Given the description of an element on the screen output the (x, y) to click on. 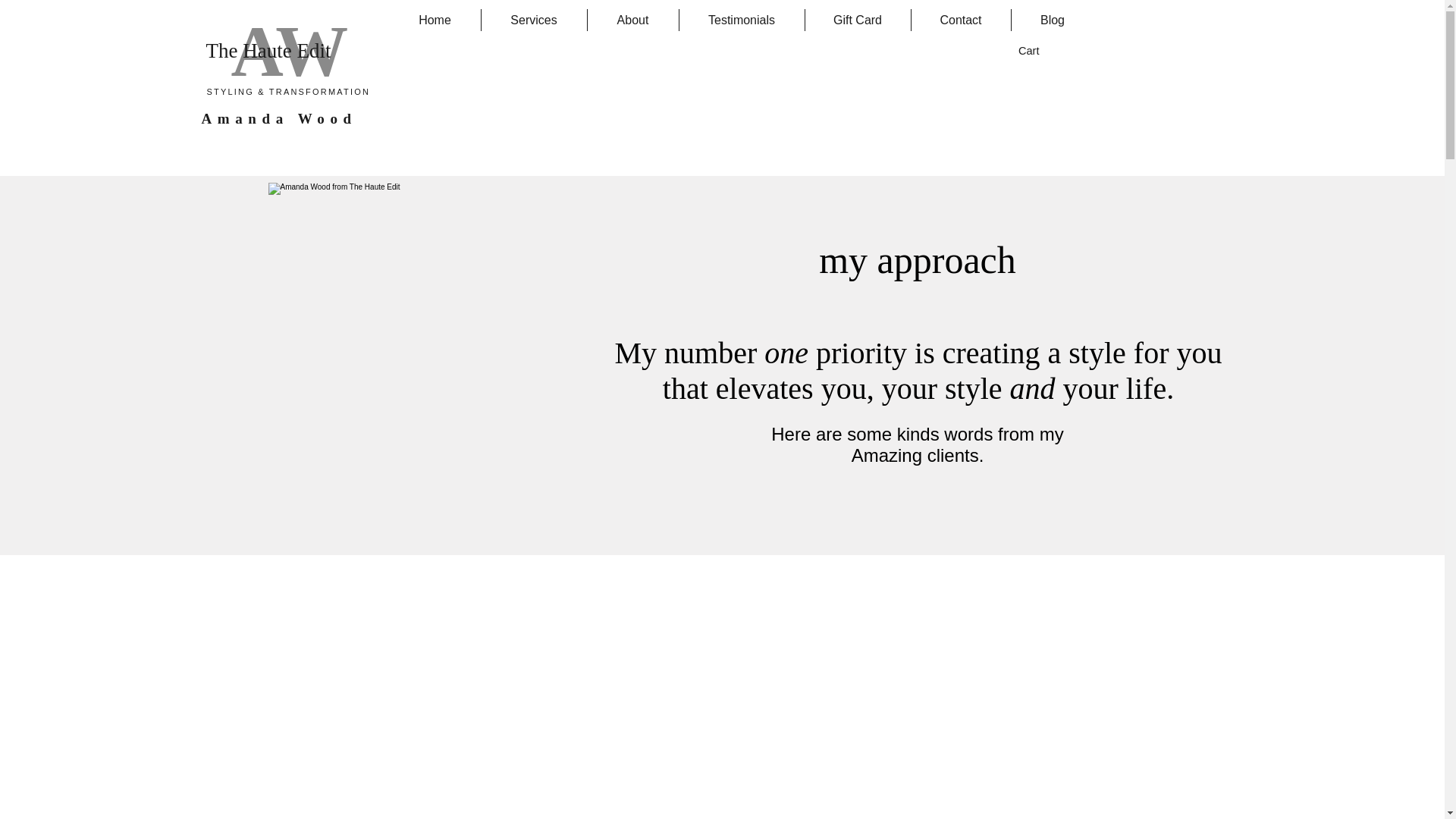
Cart (1037, 51)
Contact (960, 20)
About (632, 20)
Home (435, 20)
Services (533, 20)
Gift Card (858, 20)
Testimonials (742, 20)
Cart (1037, 51)
Blog (1052, 20)
